Given the description of an element on the screen output the (x, y) to click on. 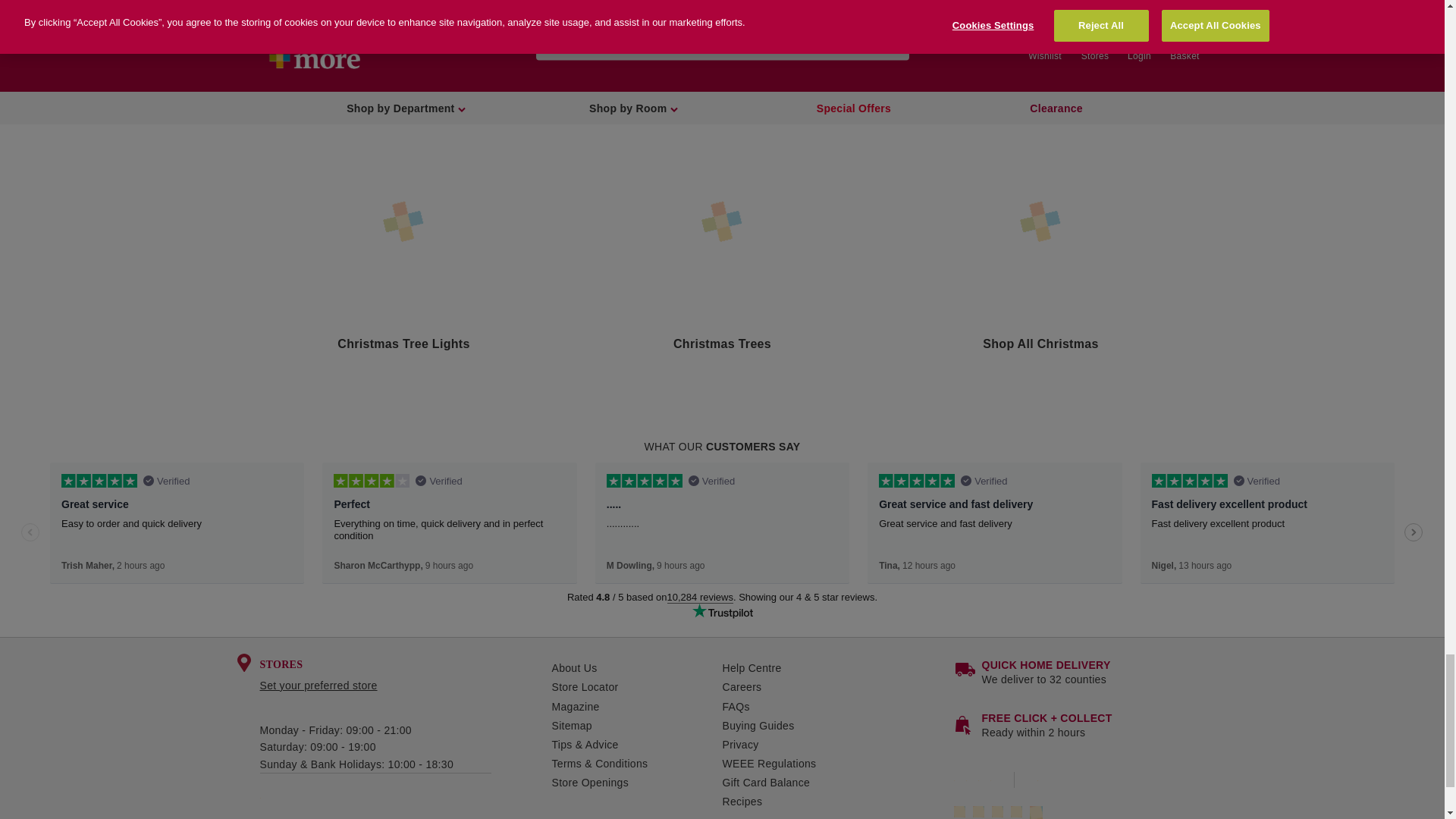
Go to Store Locator (636, 687)
Go to Contact Us (837, 668)
Go to Buying Guides (837, 725)
Go to Privacy (837, 744)
Go to Sitemap (636, 725)
Go to FAQs (837, 706)
Go to Careers (837, 687)
